Given the description of an element on the screen output the (x, y) to click on. 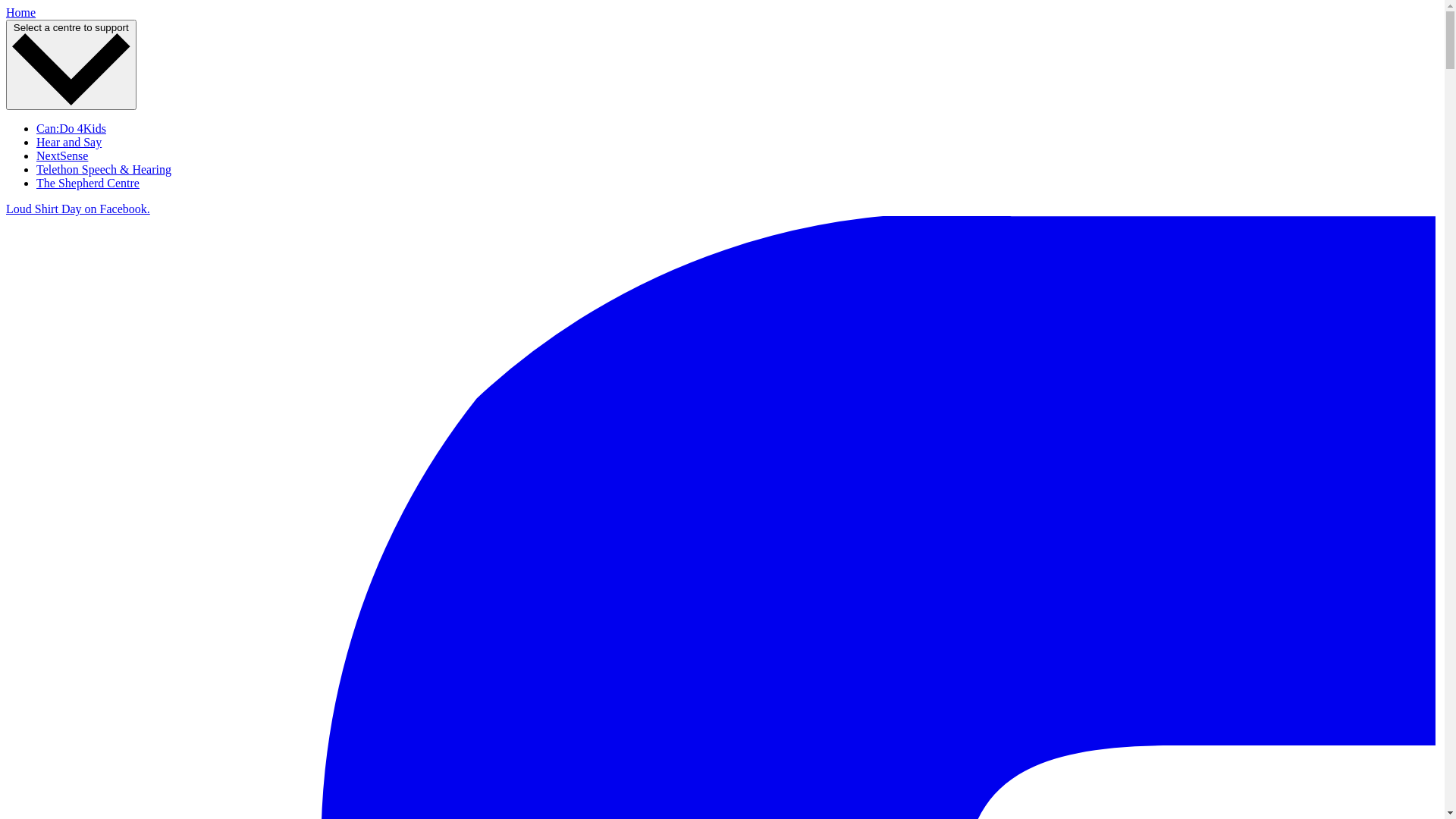
Home Element type: text (20, 12)
Can:Do 4Kids Element type: text (71, 128)
Hear and Say Element type: text (68, 141)
The Shepherd Centre Element type: text (87, 182)
Telethon Speech & Hearing Element type: text (103, 169)
NextSense Element type: text (61, 155)
Select a centre to support Element type: text (71, 64)
